Given the description of an element on the screen output the (x, y) to click on. 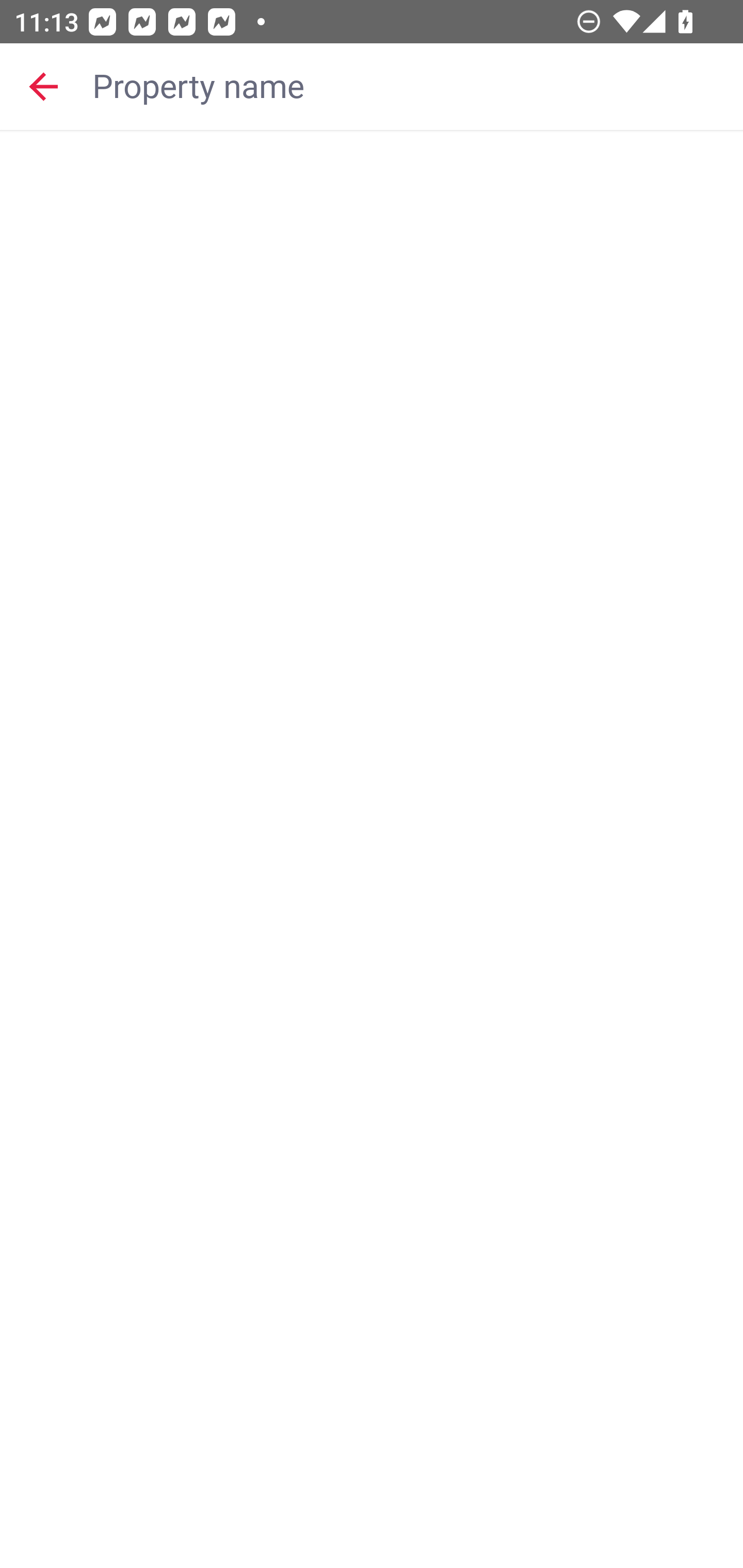
Property name,  (407, 85)
Back to search screen (43, 86)
